Given the description of an element on the screen output the (x, y) to click on. 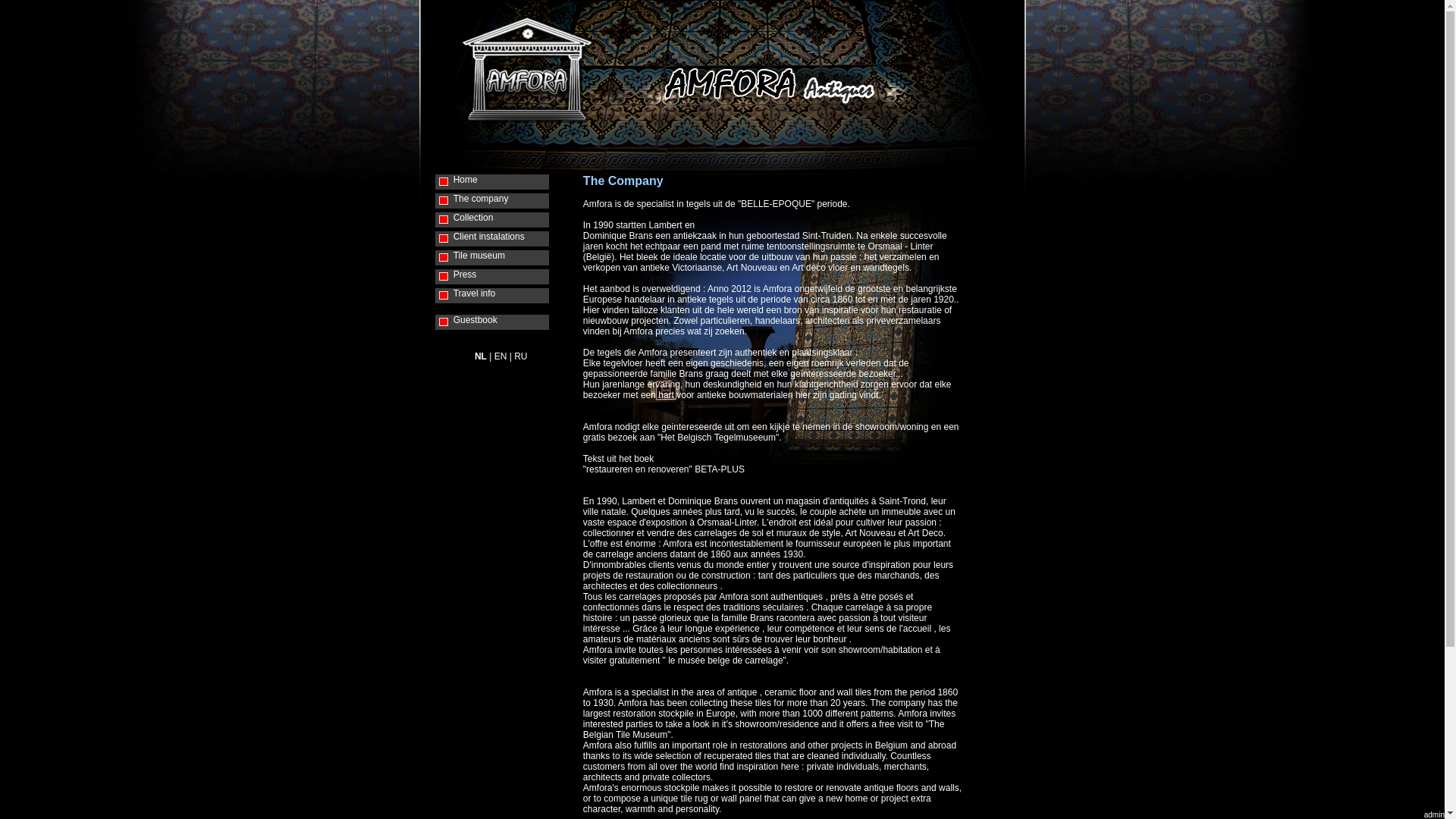
Tile museum Element type: text (501, 257)
NL Element type: text (480, 356)
RU Element type: text (520, 356)
Home Element type: text (501, 181)
Collection Element type: text (501, 219)
Press Element type: text (501, 276)
The company Element type: text (501, 200)
Client instalations Element type: text (501, 238)
Travel info Element type: text (501, 295)
EN Element type: text (500, 356)
Guestbook Element type: text (501, 321)
